Given the description of an element on the screen output the (x, y) to click on. 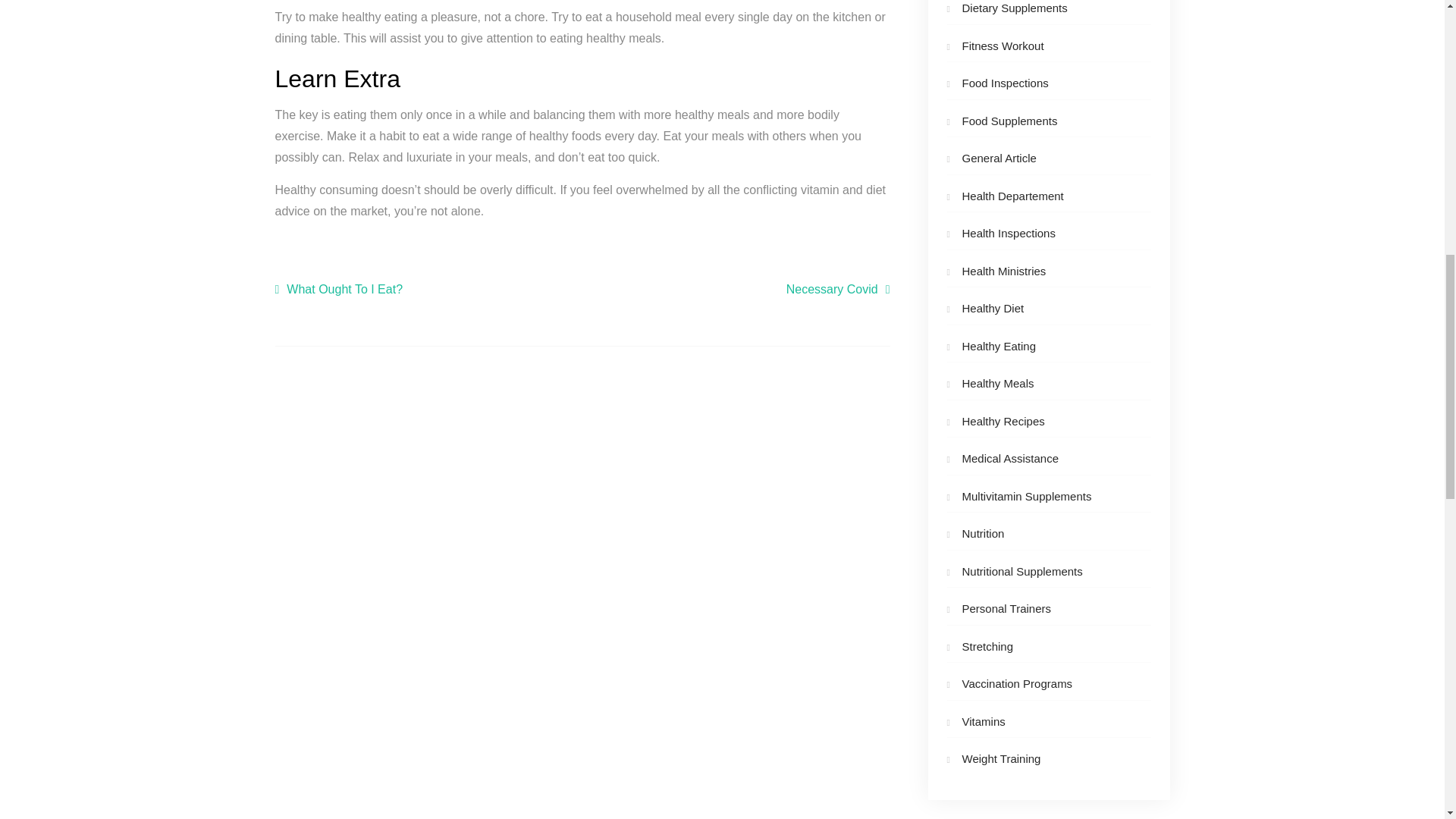
Healthy Recipes (1001, 420)
Food Supplements (1008, 120)
Dietary Supplements (1013, 7)
Personal Trainers (1005, 608)
Necessary Covid (837, 289)
Health Inspections (1007, 232)
Health Departement (1011, 195)
Nutritional Supplements (1020, 571)
Fitness Workout (1001, 45)
Healthy Eating (997, 345)
